Given the description of an element on the screen output the (x, y) to click on. 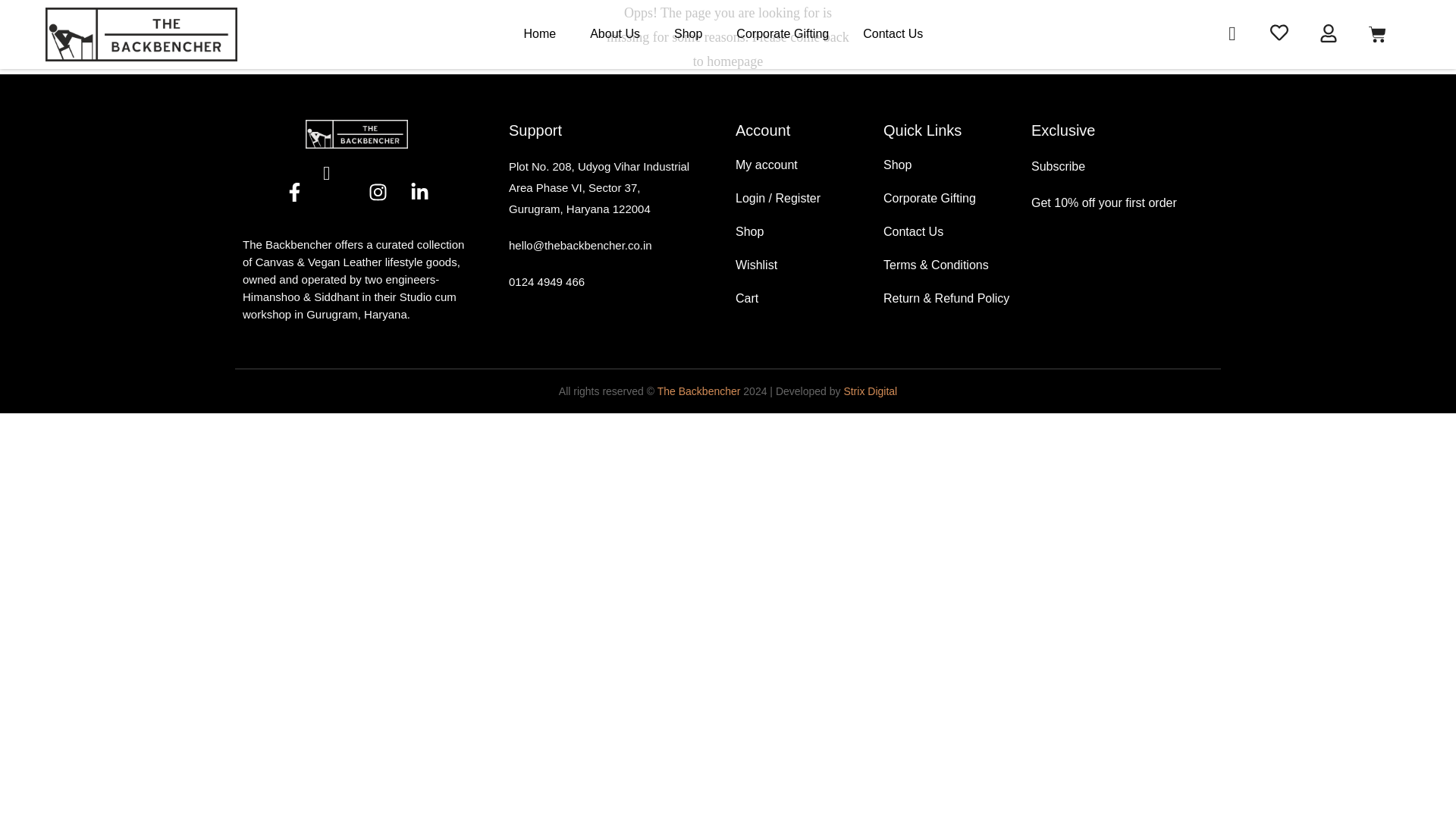
Corporate Gifting (782, 33)
